Given the description of an element on the screen output the (x, y) to click on. 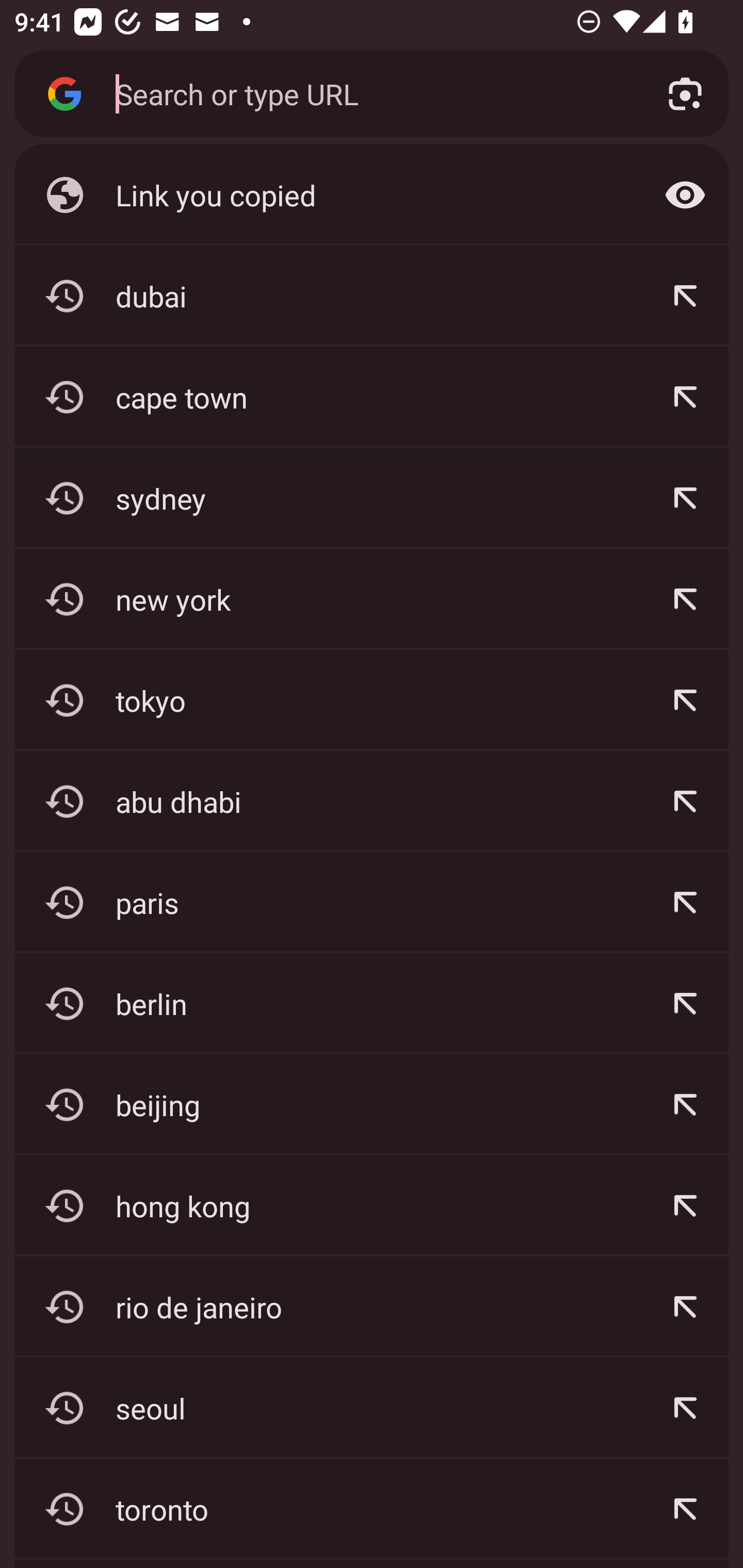
Search with your camera using Google Lens (684, 93)
Search or type URL (367, 92)
Link you copied Show clipboard contents (371, 195)
Show clipboard contents (684, 195)
dubai Refine: dubai (371, 296)
Refine: dubai (684, 296)
cape town Refine: cape town (371, 397)
Refine: cape town (684, 397)
sydney Refine: sydney (371, 498)
Refine: sydney (684, 498)
new york Refine: new york (371, 598)
Refine: new york (684, 598)
tokyo Refine: tokyo (371, 700)
Refine: tokyo (684, 700)
abu dhabi Refine: abu dhabi (371, 801)
Refine: abu dhabi (684, 801)
paris Refine: paris (371, 902)
Refine: paris (684, 902)
berlin Refine: berlin (371, 1003)
Refine: berlin (684, 1003)
beijing Refine: beijing (371, 1104)
Refine: beijing (684, 1104)
hong kong Refine: hong kong (371, 1205)
Refine: hong kong (684, 1205)
rio de janeiro Refine: rio de janeiro (371, 1306)
Refine: rio de janeiro (684, 1306)
seoul Refine: seoul (371, 1407)
Refine: seoul (684, 1407)
toronto Refine: toronto (371, 1509)
Refine: toronto (684, 1509)
